Given the description of an element on the screen output the (x, y) to click on. 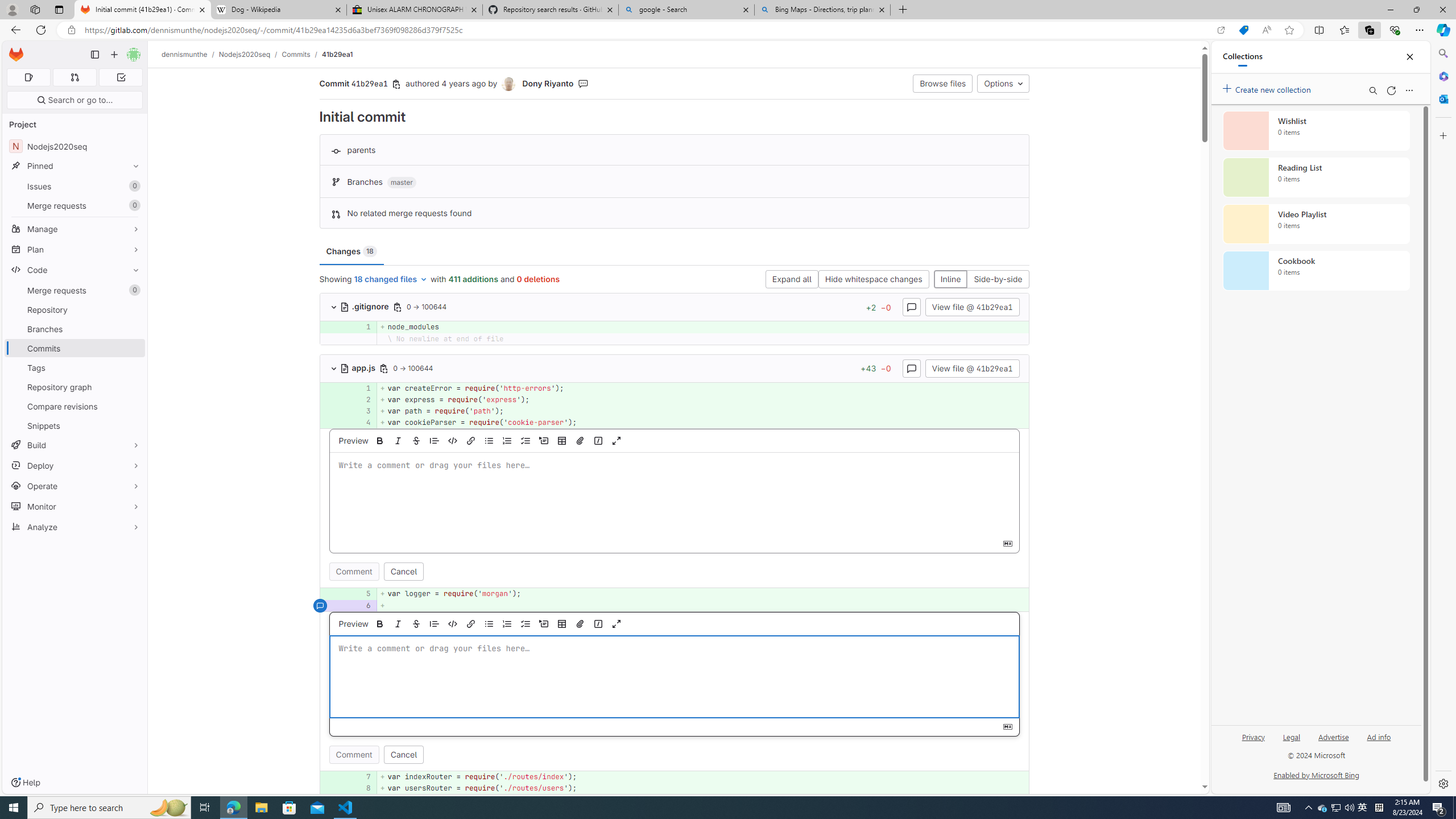
+ var logger = require('morgan');  (703, 594)
Add a checklist (525, 623)
Add a link (Ctrl+K) (470, 623)
Unpin Merge requests (132, 290)
4 (362, 422)
Build (74, 444)
+ var express = require('express');  (703, 399)
AutomationID: 4a68969ef8e858229267b842dedf42ab5dde4d50_0_7 (674, 776)
Nodejs2020seq/ (250, 53)
Operate (74, 485)
Monitor (74, 506)
